Given the description of an element on the screen output the (x, y) to click on. 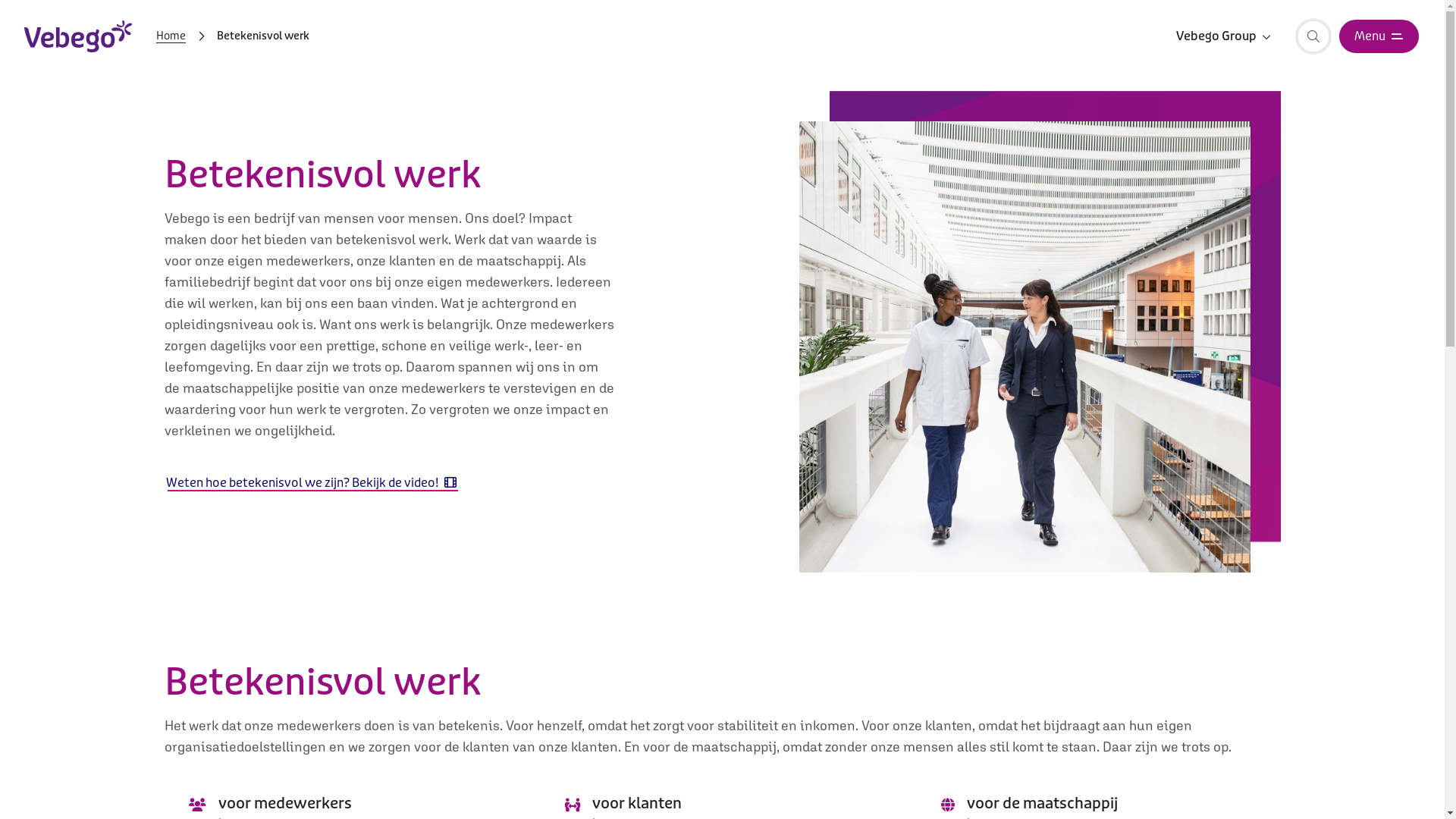
Weten hoe betekenisvol we zijn? Bekijk de video! Element type: text (310, 483)
Menu Element type: text (1378, 36)
Home Element type: text (170, 36)
